Given the description of an element on the screen output the (x, y) to click on. 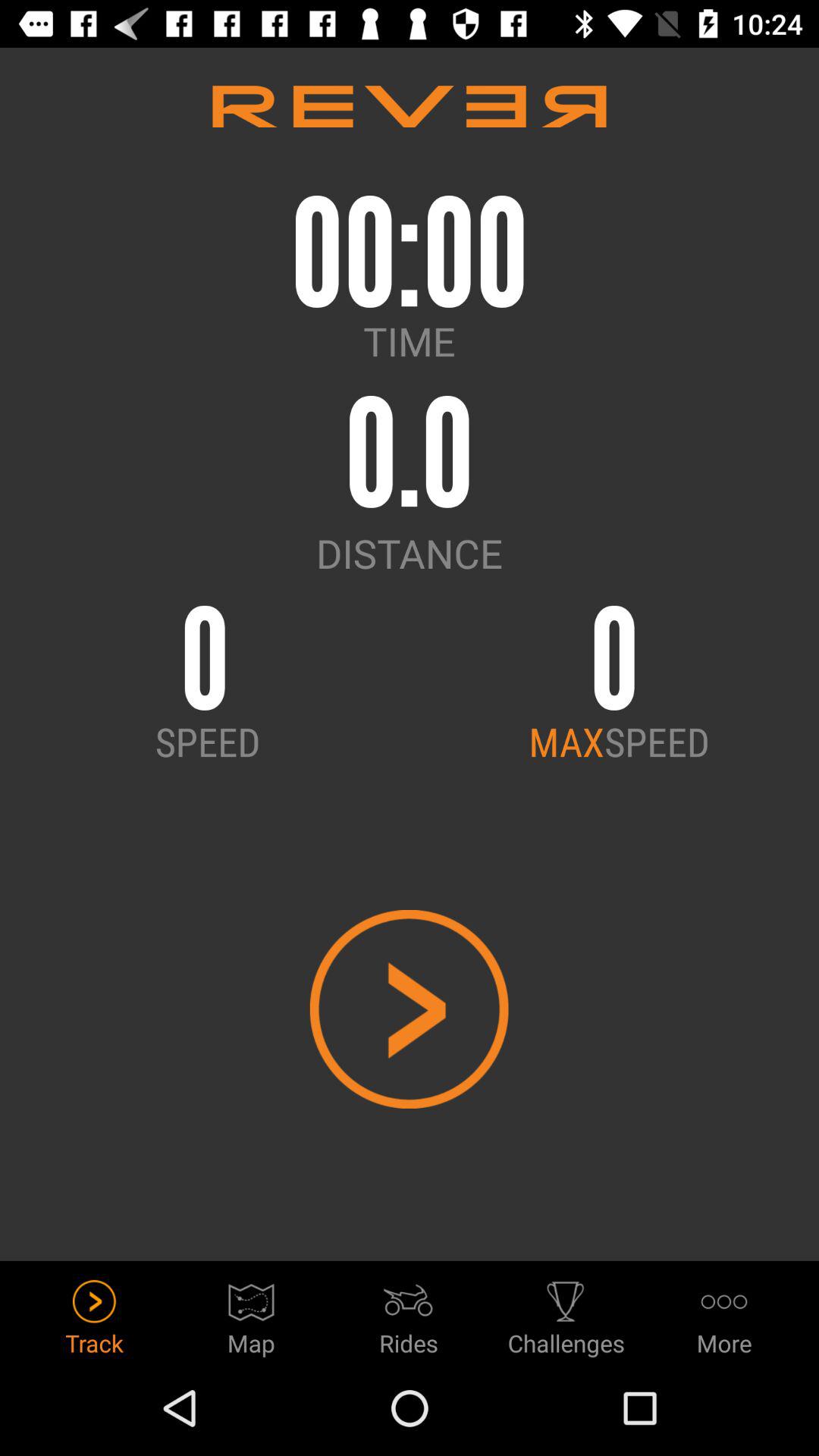
choose the icon next to speed icon (566, 740)
